Given the description of an element on the screen output the (x, y) to click on. 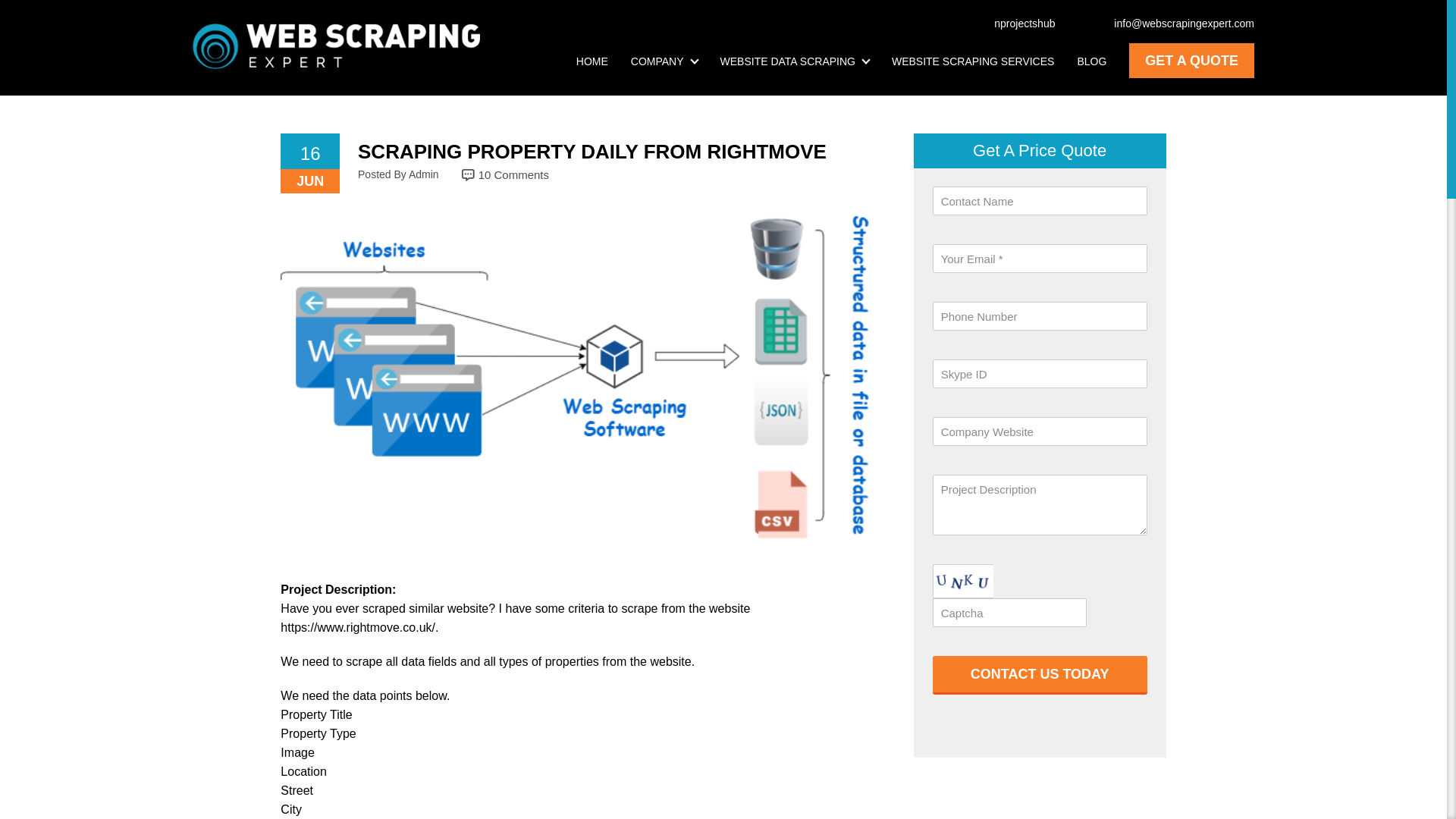
HOME (592, 61)
nprojectshub (1016, 23)
Contact Us Today (1040, 675)
Web Scraping Expert (336, 45)
